Given the description of an element on the screen output the (x, y) to click on. 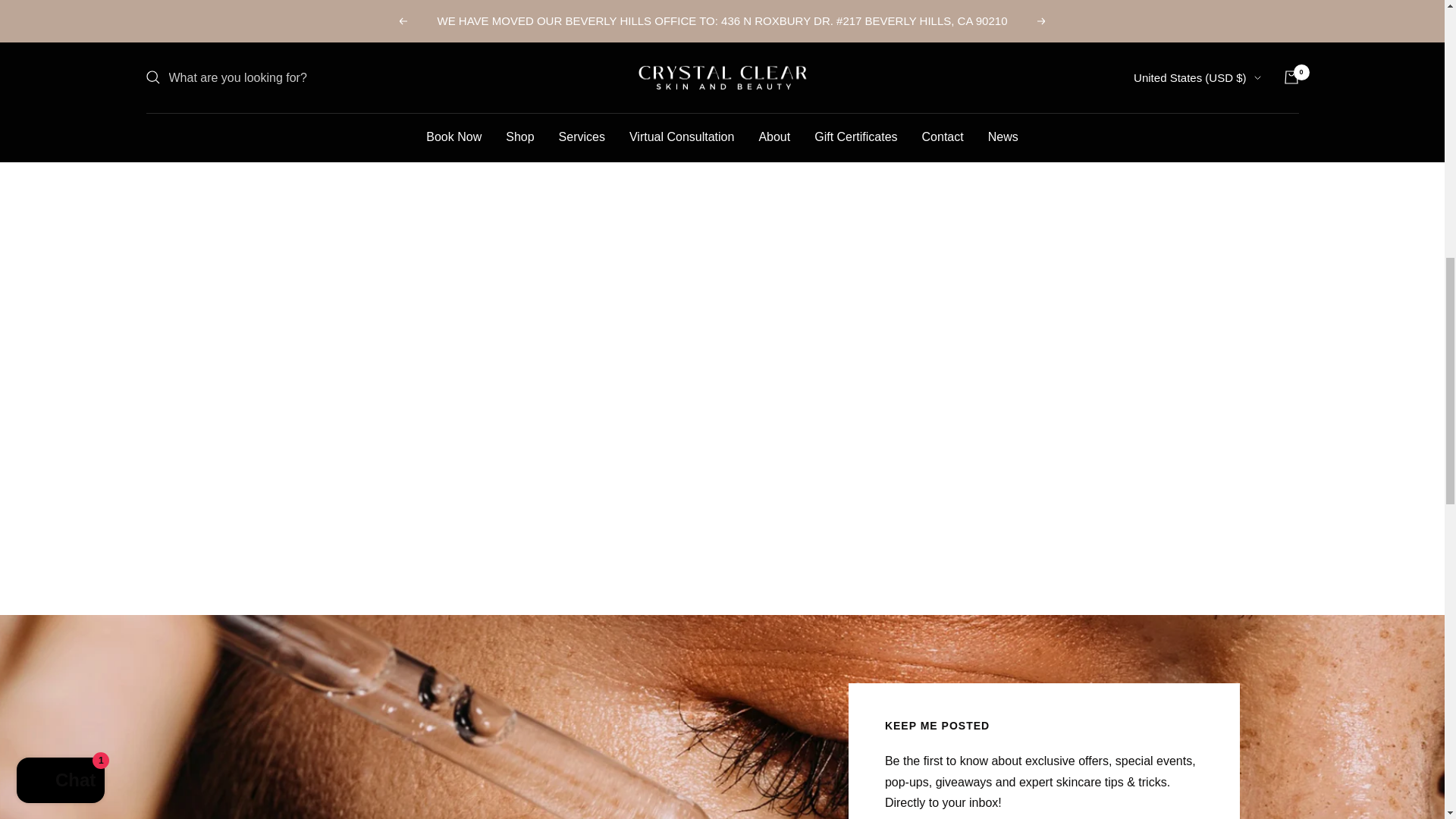
GB (1153, 3)
US (1153, 23)
